Given the description of an element on the screen output the (x, y) to click on. 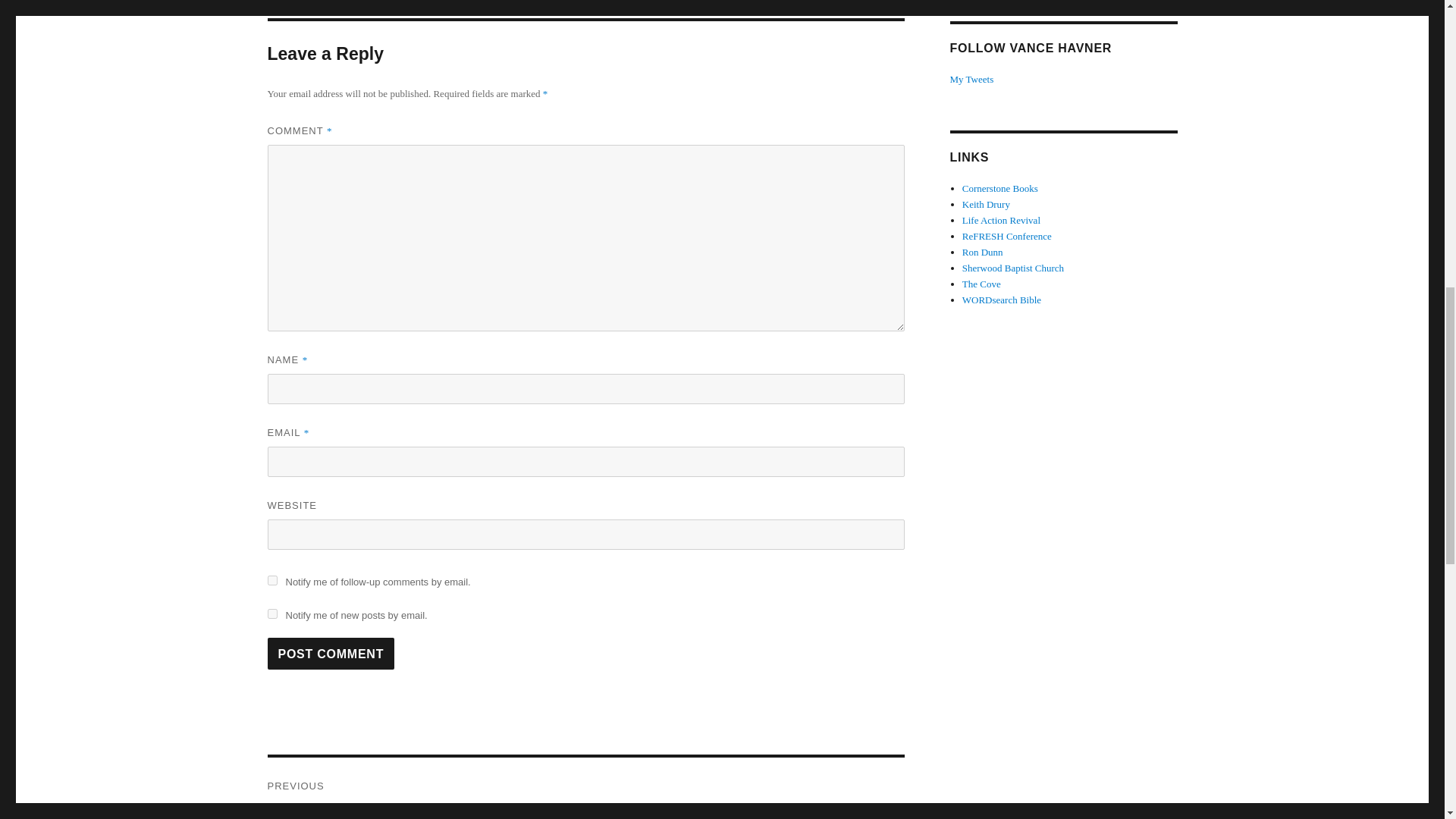
subscribe (271, 580)
Post Comment (330, 653)
subscribe (271, 614)
